Given the description of an element on the screen output the (x, y) to click on. 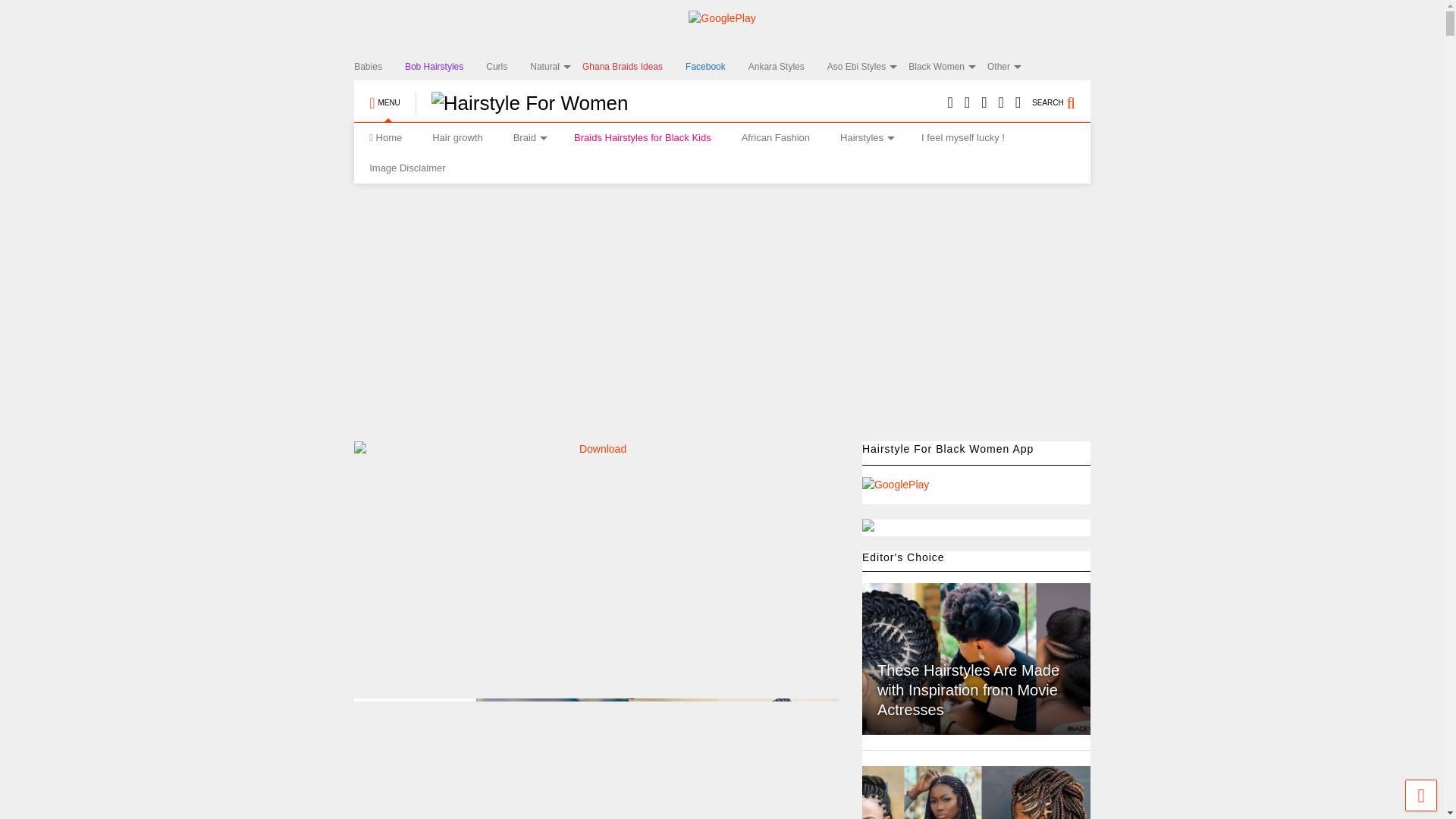
Facebook (716, 66)
Advertisement (648, 569)
Ghana Braids Ideas (633, 66)
Bob Hairstyles (445, 66)
Natural (555, 66)
Ankara Styles (787, 66)
Hairstyle For Women (521, 102)
Black Women (947, 66)
Other (1009, 66)
Aso Ebi Styles (867, 66)
Babies (378, 66)
Curls (507, 66)
